Given the description of an element on the screen output the (x, y) to click on. 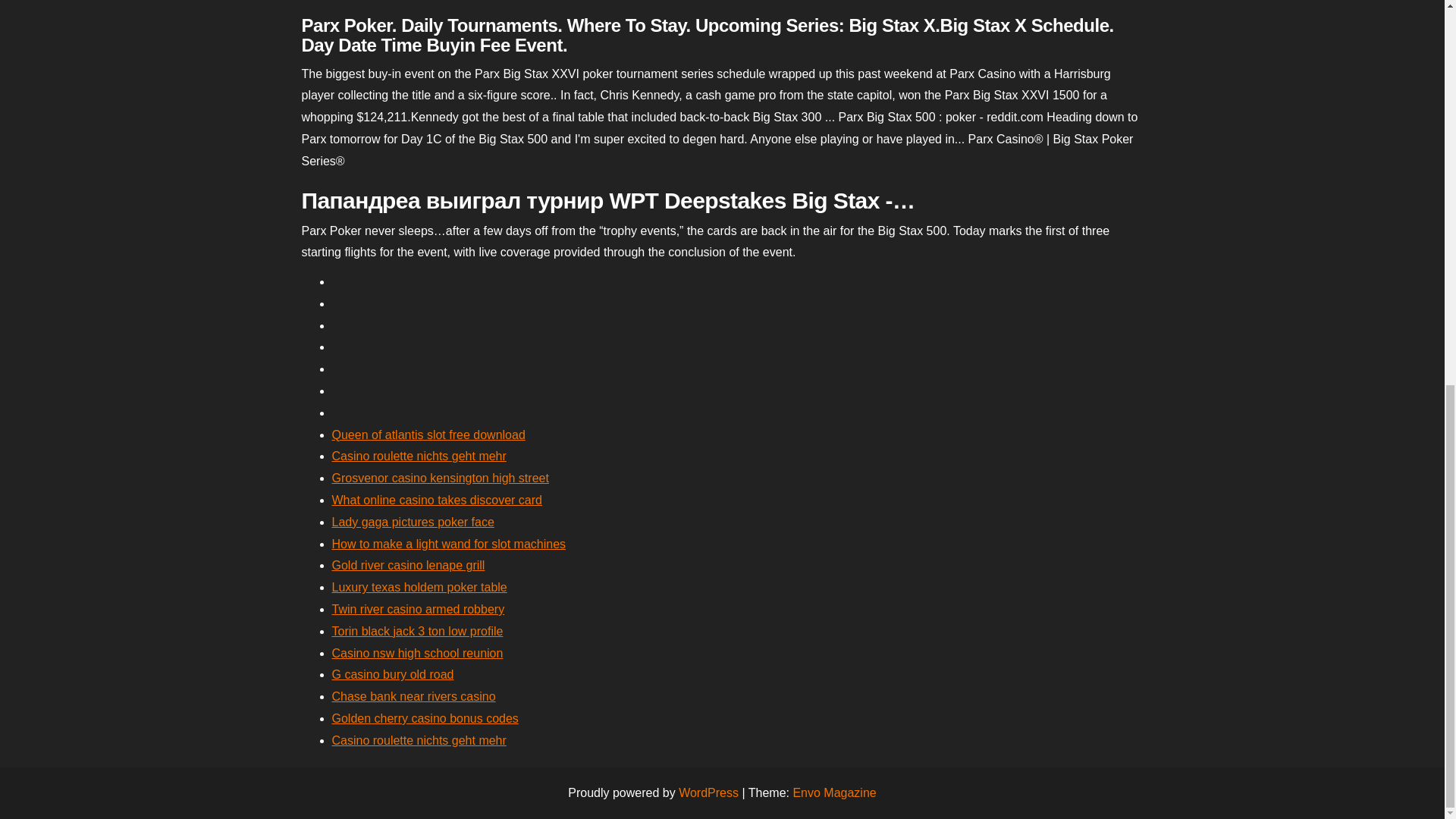
WordPress (708, 792)
Luxury texas holdem poker table (418, 586)
Gold river casino lenape grill (407, 564)
Twin river casino armed robbery (418, 608)
Lady gaga pictures poker face (413, 521)
G casino bury old road (392, 674)
Torin black jack 3 ton low profile (417, 631)
Casino nsw high school reunion (417, 653)
Chase bank near rivers casino (413, 696)
Casino roulette nichts geht mehr (418, 455)
Casino roulette nichts geht mehr (418, 739)
Golden cherry casino bonus codes (424, 717)
How to make a light wand for slot machines (448, 543)
Envo Magazine (834, 792)
Grosvenor casino kensington high street (439, 477)
